Given the description of an element on the screen output the (x, y) to click on. 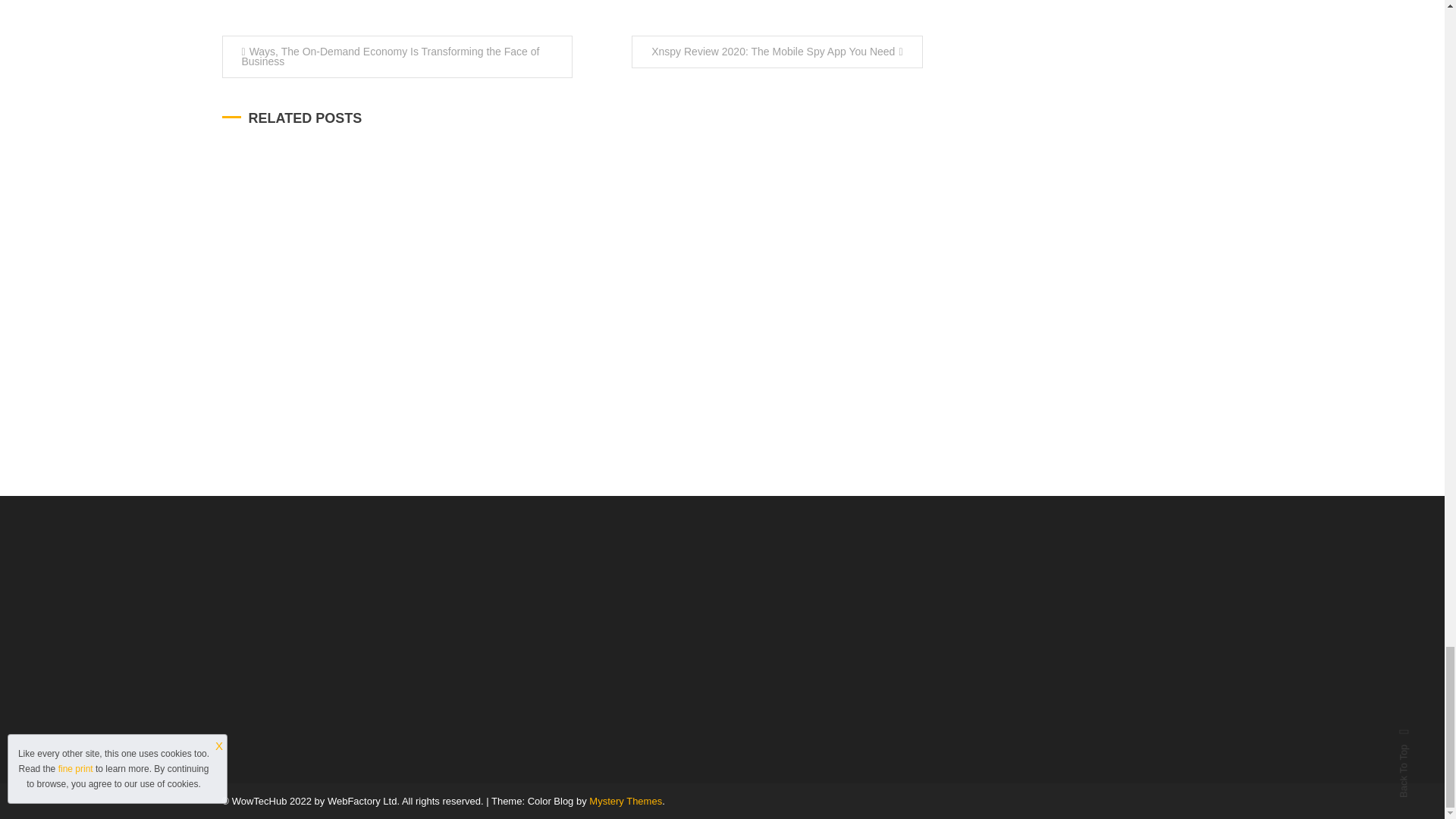
Xnspy Review 2020: The Mobile Spy App You Need (776, 51)
